Given the description of an element on the screen output the (x, y) to click on. 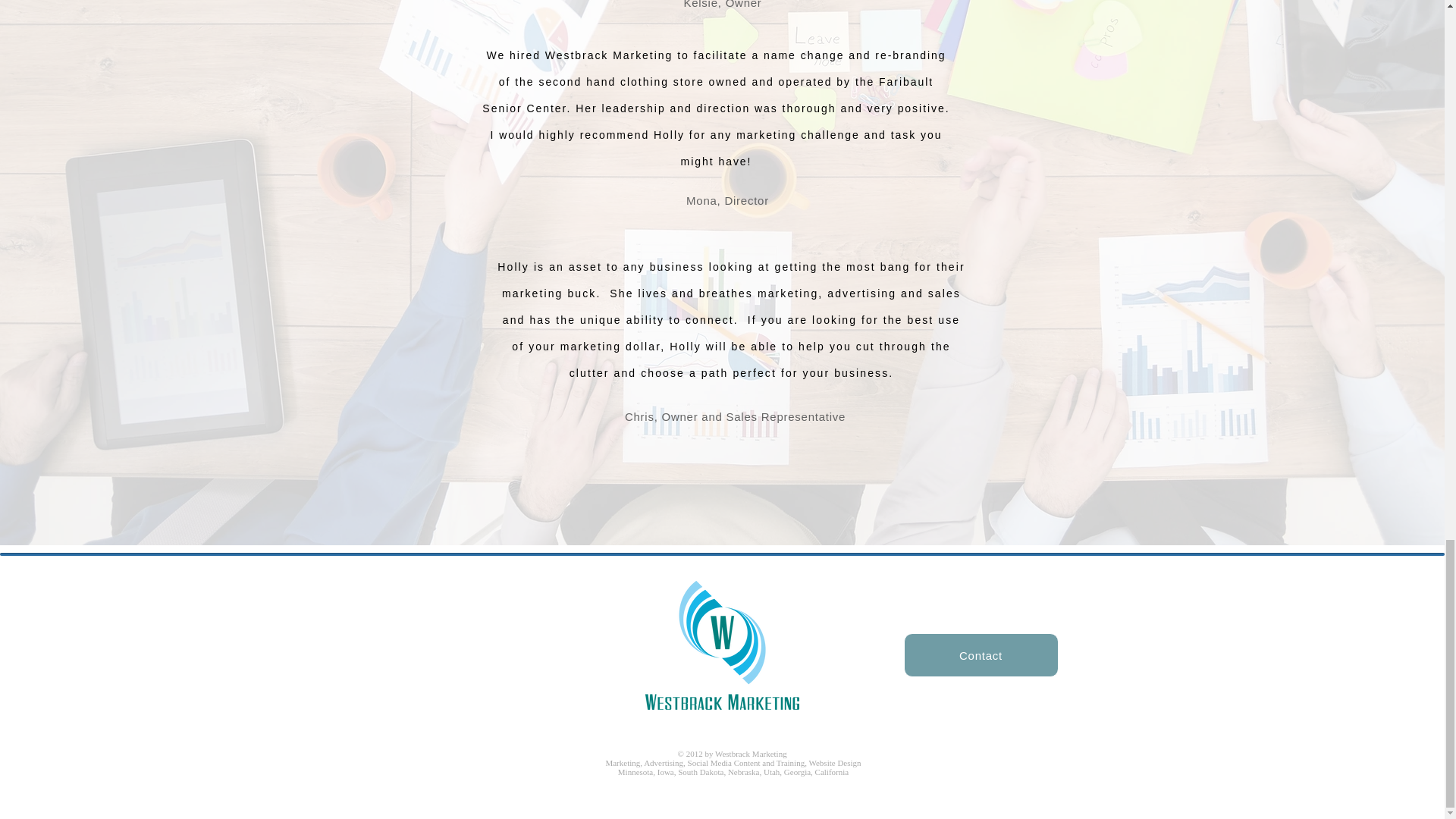
Privacy Policy (1048, 762)
Contact (981, 655)
